Given the description of an element on the screen output the (x, y) to click on. 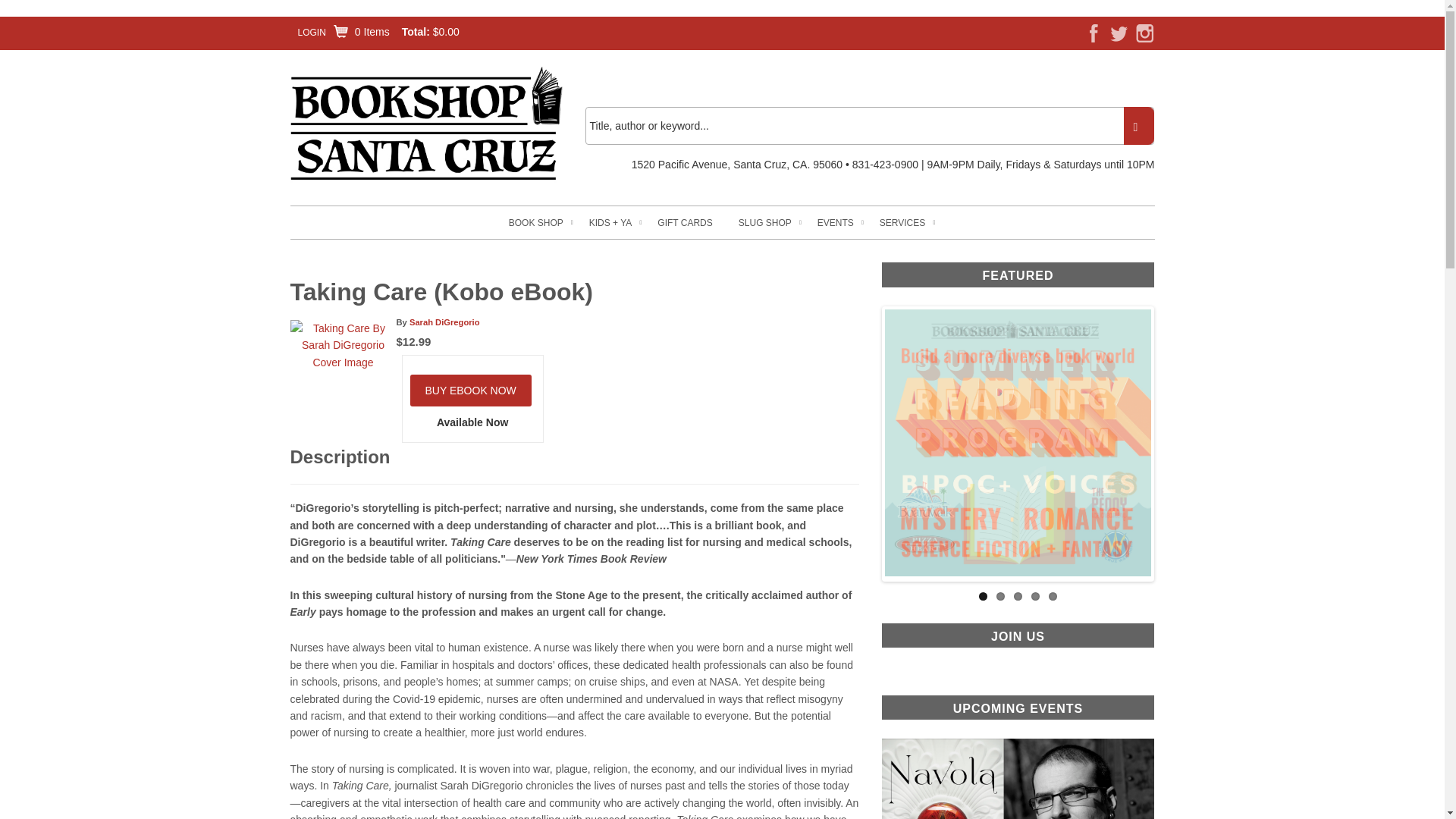
BOOK SHOP (535, 222)
Title, author or keyword... (869, 125)
Buy eBook Now (470, 390)
Home (425, 124)
LOGIN (311, 32)
